Given the description of an element on the screen output the (x, y) to click on. 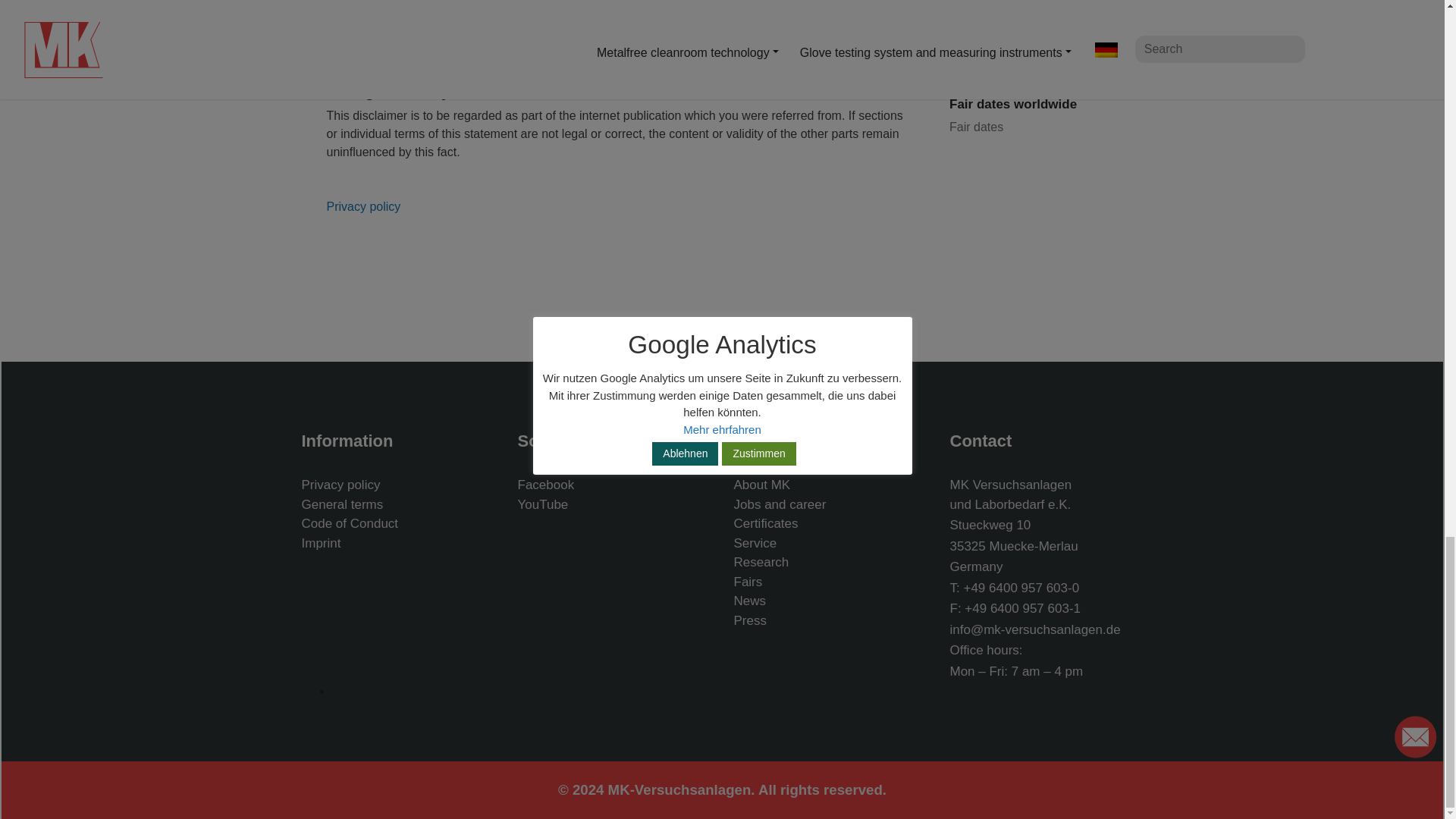
Privacy policy (363, 205)
Wenn ein Telefon verbunden ist: Nummer anrufen (1020, 587)
Privacy policy (363, 205)
